Given the description of an element on the screen output the (x, y) to click on. 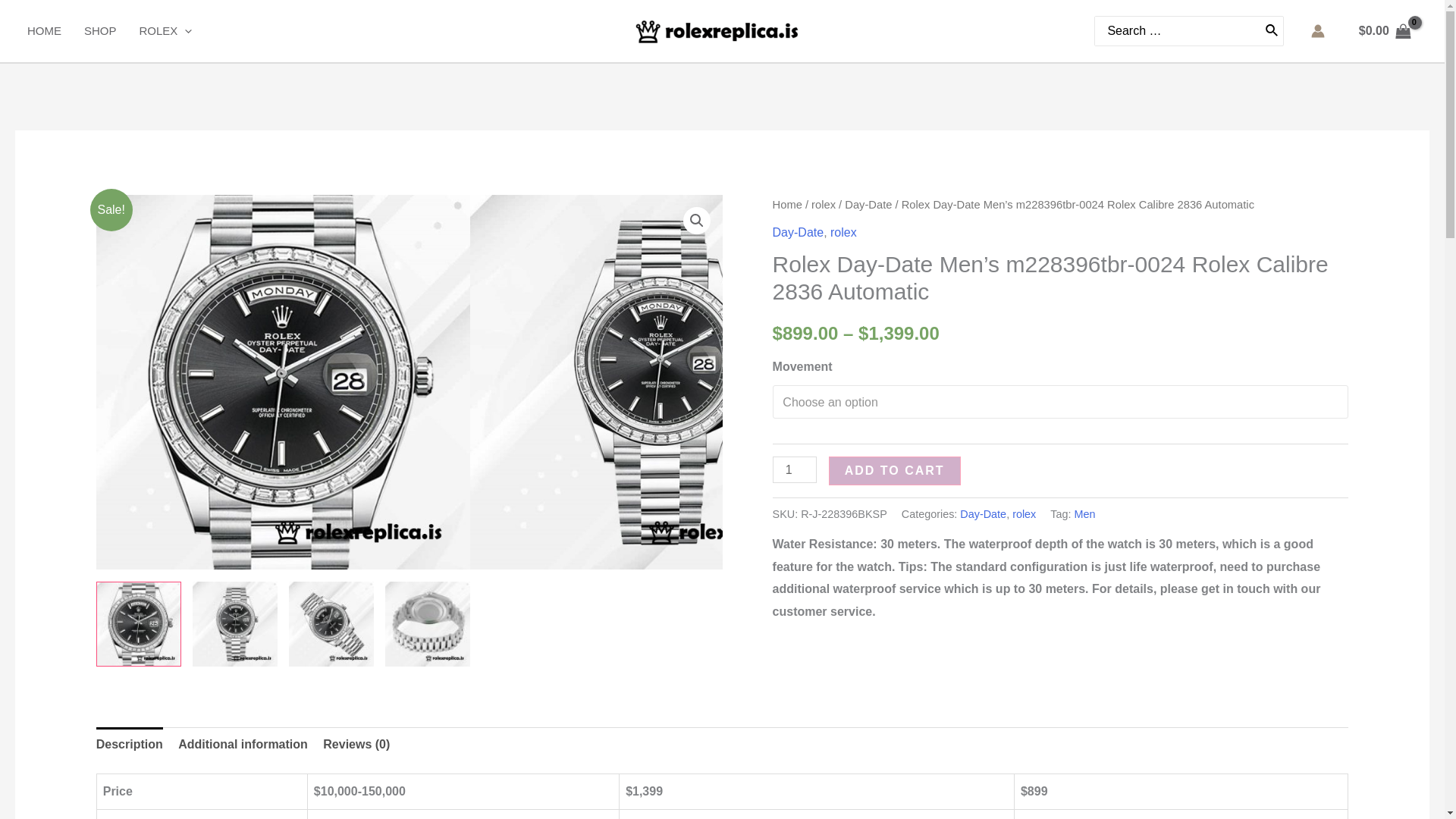
SHOP (111, 30)
rolex (822, 204)
1 (794, 469)
Home (787, 204)
Day-Date (798, 232)
Search (1272, 30)
HOME (55, 30)
ROLEX (177, 30)
rolex (843, 232)
Qty (794, 469)
Day-Date (867, 204)
